Given the description of an element on the screen output the (x, y) to click on. 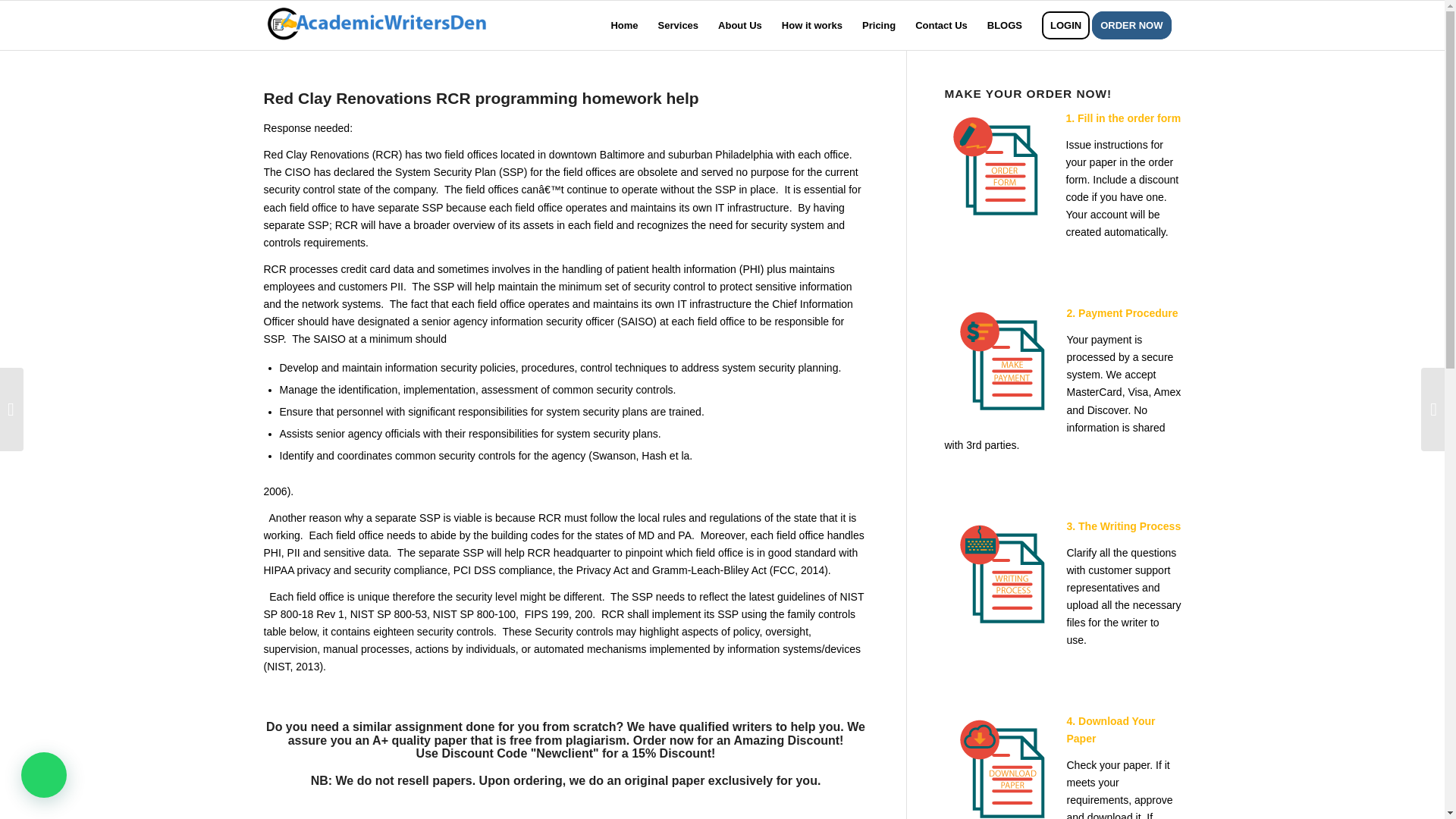
Red Clay Renovations RCR programming homework help (480, 98)
ORDER NOW (1136, 24)
Pricing (878, 24)
LOGIN (1065, 24)
Contact Us (940, 24)
Services (678, 24)
Home (623, 24)
About Us (739, 24)
How it works (811, 24)
BLOGS (1004, 24)
